Given the description of an element on the screen output the (x, y) to click on. 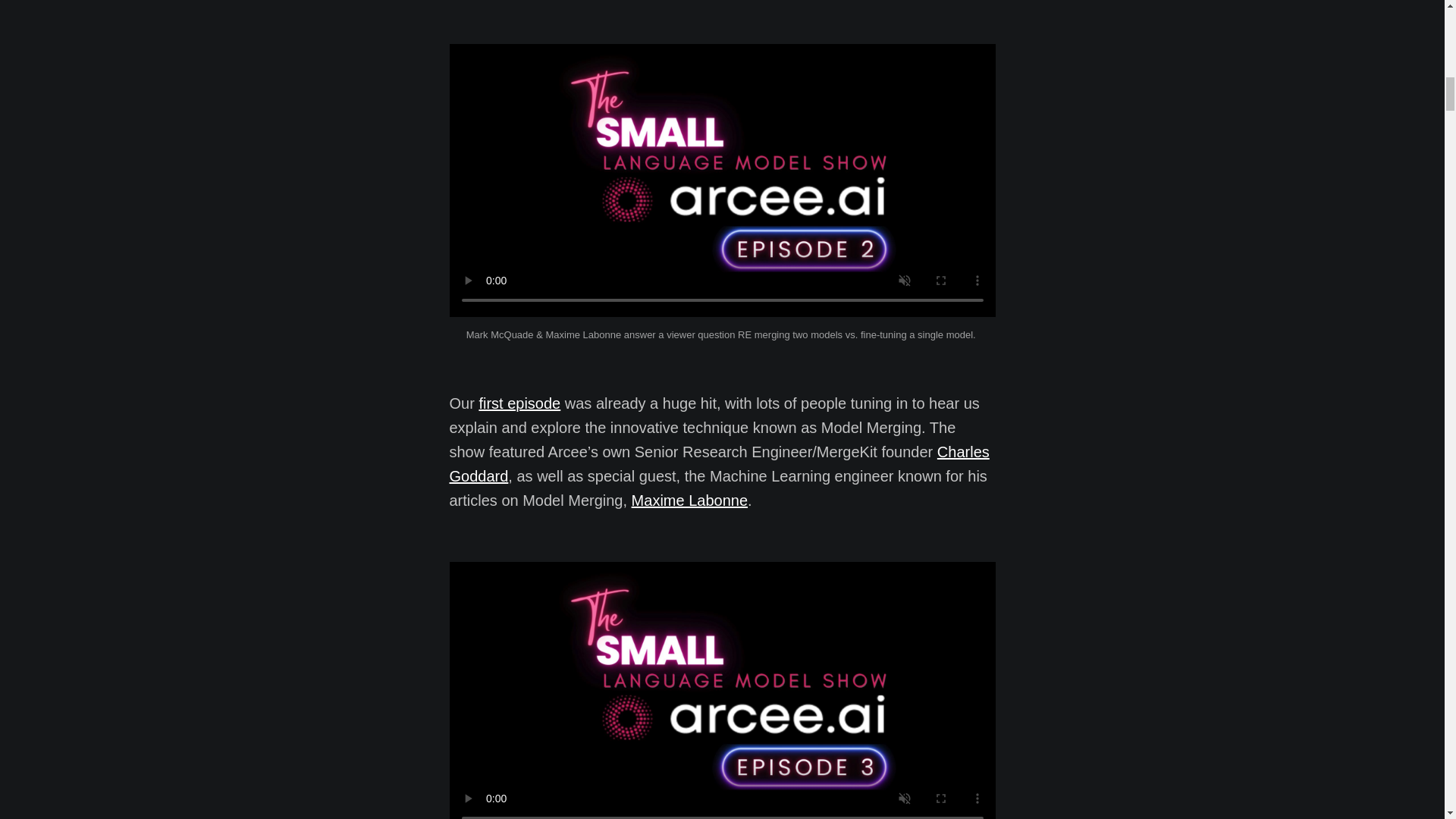
first episode (519, 402)
Charles Goddard (718, 463)
Maxime Labonne (689, 500)
